Given the description of an element on the screen output the (x, y) to click on. 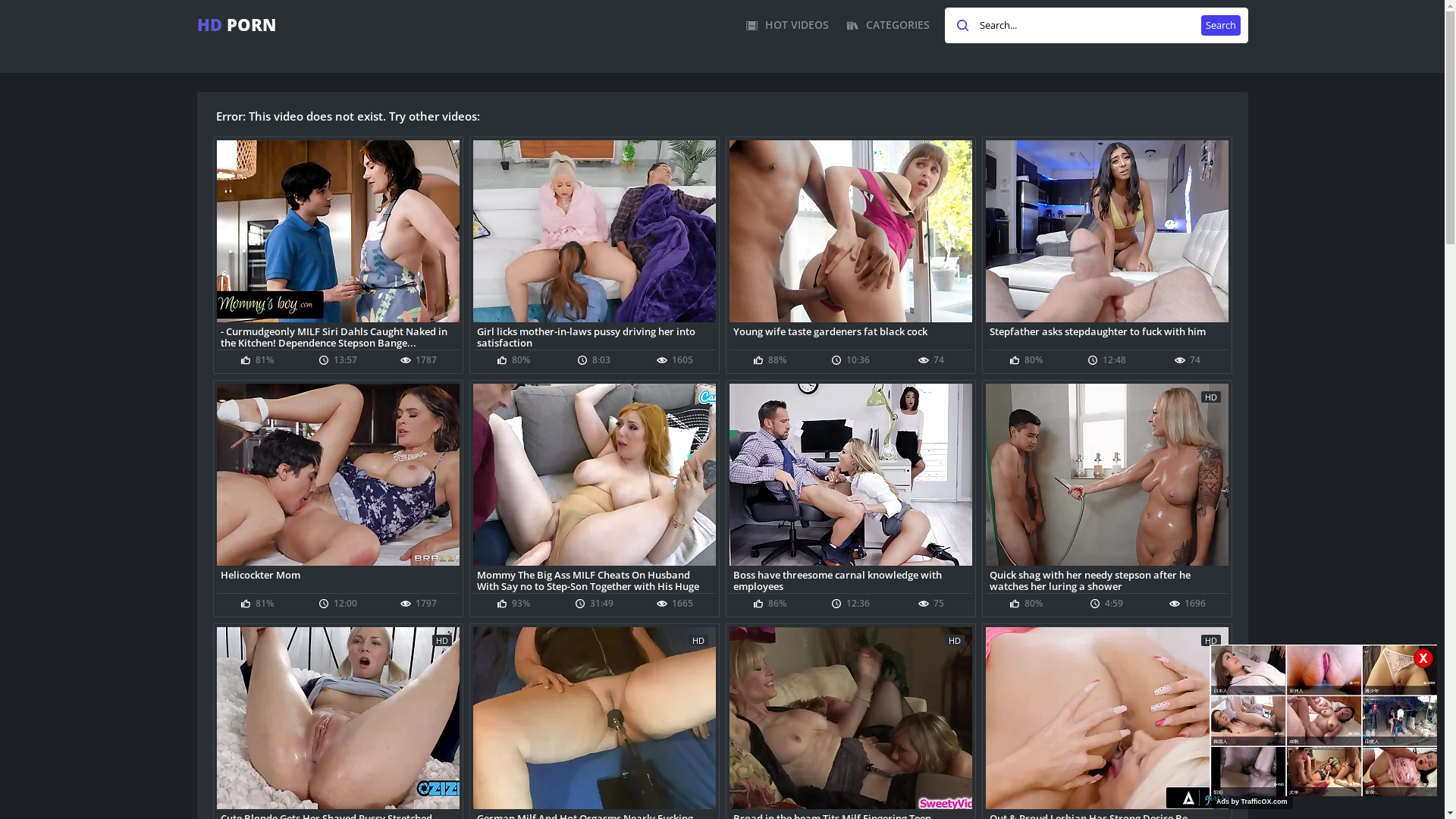
HD Element type: text (850, 718)
HD Element type: text (1106, 718)
HD Element type: text (594, 718)
CATEGORIES Element type: text (887, 25)
HD Element type: text (337, 718)
Young wife taste gardeners fat black cock Element type: text (850, 336)
HD Element type: text (1106, 474)
HD PORN Element type: text (236, 24)
Search Element type: text (1220, 25)
Search X Videos Element type: hover (1096, 25)
Ads by TrafficOX.com Element type: text (1251, 801)
HOT VIDEOS Element type: text (787, 25)
Boss have threesome carnal knowledge with employees Element type: text (850, 579)
Helicockter Mom Element type: text (337, 579)
Stepfather asks stepdaughter to fuck with him Element type: text (1106, 336)
